Given the description of an element on the screen output the (x, y) to click on. 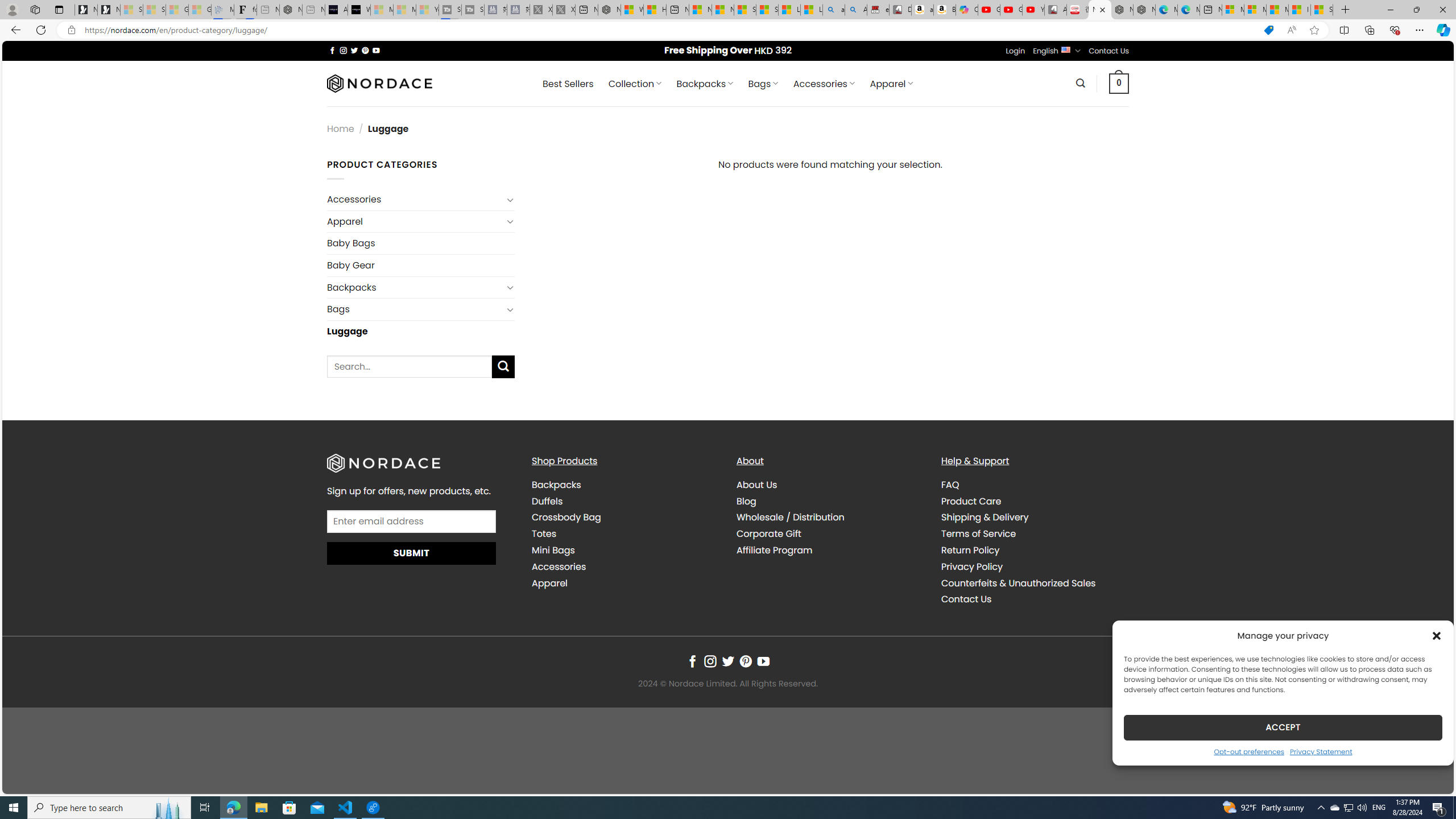
I Gained 20 Pounds of Muscle in 30 Days! | Watch (1300, 9)
Huge shark washes ashore at New York City beach | Watch (655, 9)
Apparel (549, 582)
Totes (625, 533)
Luggage (421, 330)
Nordace - Nordace has arrived Hong Kong (1144, 9)
Backpacks (555, 484)
About Us (830, 484)
